Given the description of an element on the screen output the (x, y) to click on. 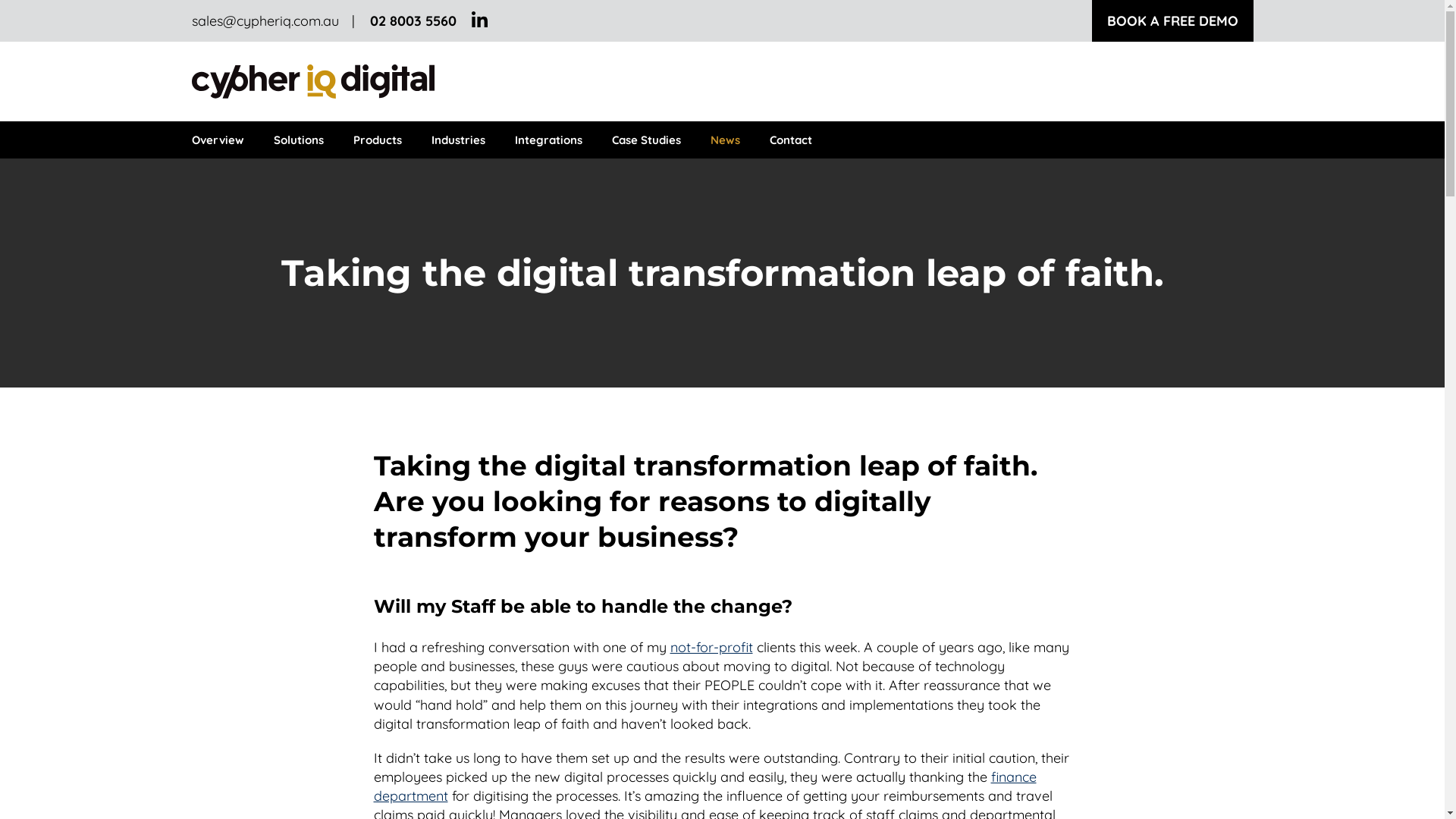
News Element type: text (724, 139)
Cypher IQ Element type: hover (319, 81)
Integrations Element type: text (547, 139)
Skip to content Element type: text (0, 0)
Contact Element type: text (789, 139)
02 8003 5560 Element type: text (413, 20)
Solutions Element type: text (297, 139)
Case Studies Element type: text (645, 139)
Overview Element type: text (221, 139)
BOOK A FREE DEMO Element type: text (1172, 20)
Products Element type: text (377, 139)
finance department Element type: text (704, 786)
Industries Element type: text (457, 139)
not-for-profit Element type: text (711, 646)
sales@cypheriq.com.au Element type: text (272, 20)
